Given the description of an element on the screen output the (x, y) to click on. 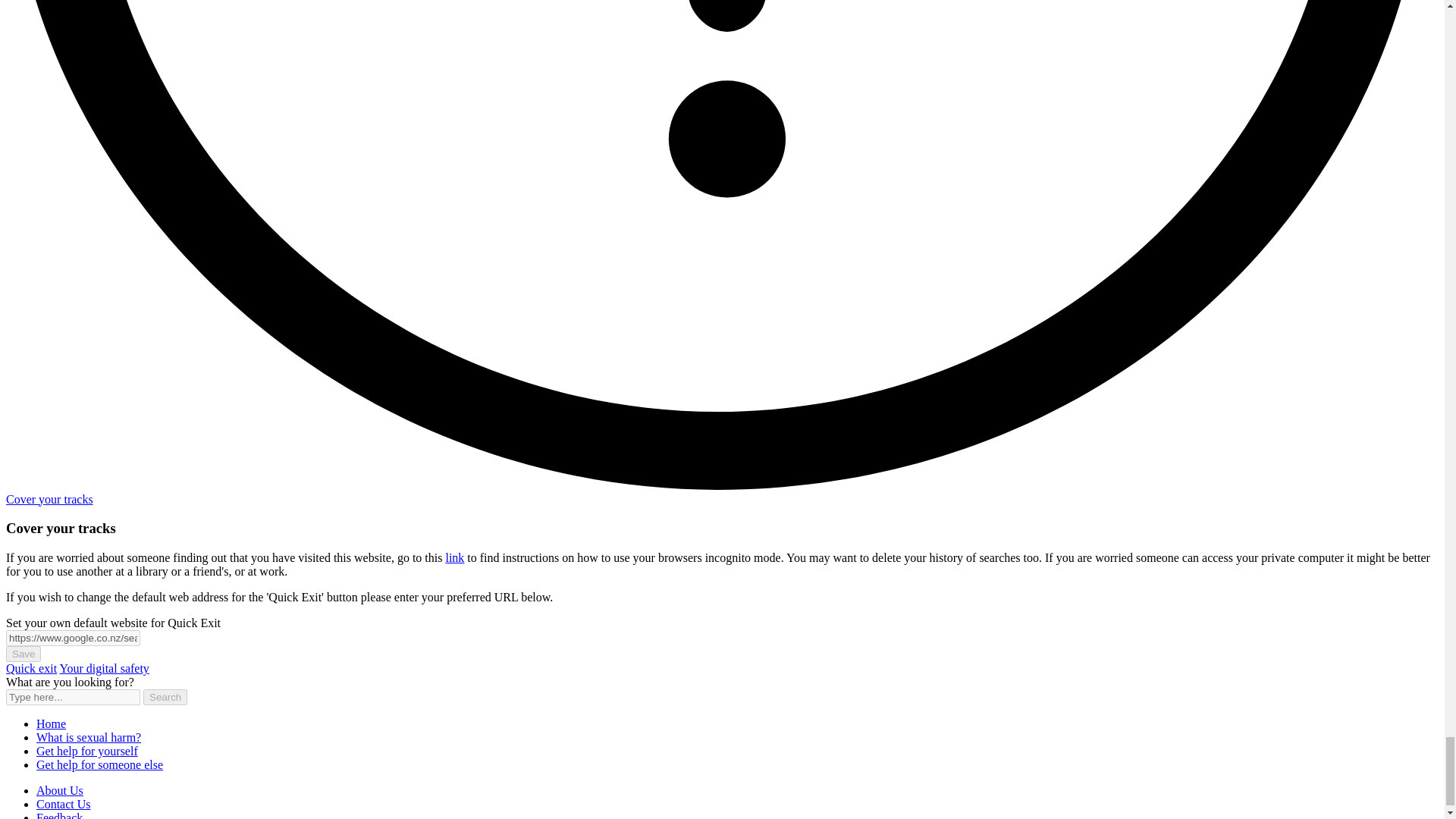
Quick exit (30, 667)
Save (22, 653)
Search (164, 697)
Your digital safety (103, 667)
link (454, 557)
Save (22, 653)
